Given the description of an element on the screen output the (x, y) to click on. 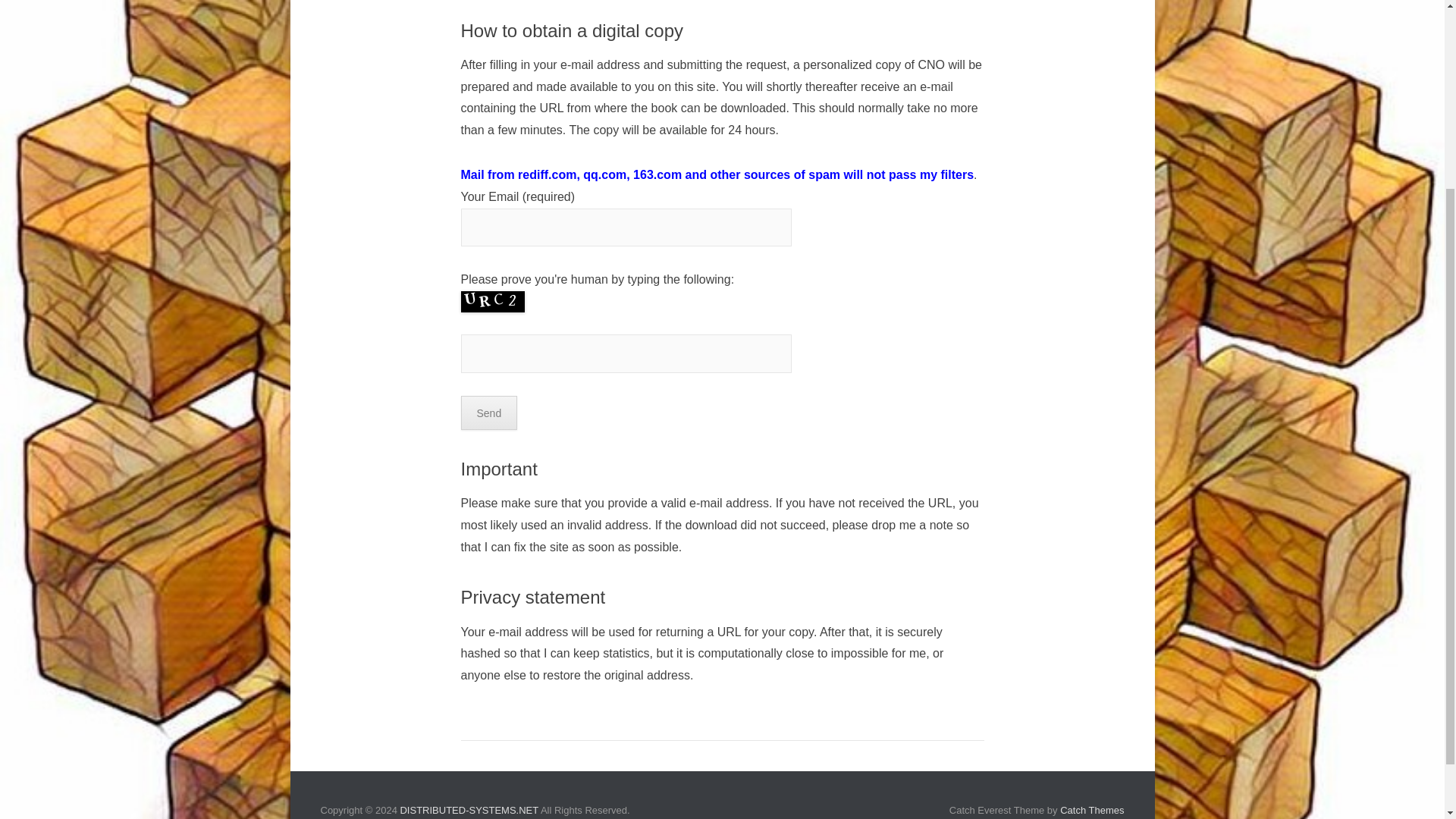
Send (489, 412)
DISTRIBUTED-SYSTEMS.NET (468, 809)
Catch Themes (1091, 809)
DISTRIBUTED-SYSTEMS.NET (468, 809)
Send (489, 412)
Catch Themes (1091, 809)
